Given the description of an element on the screen output the (x, y) to click on. 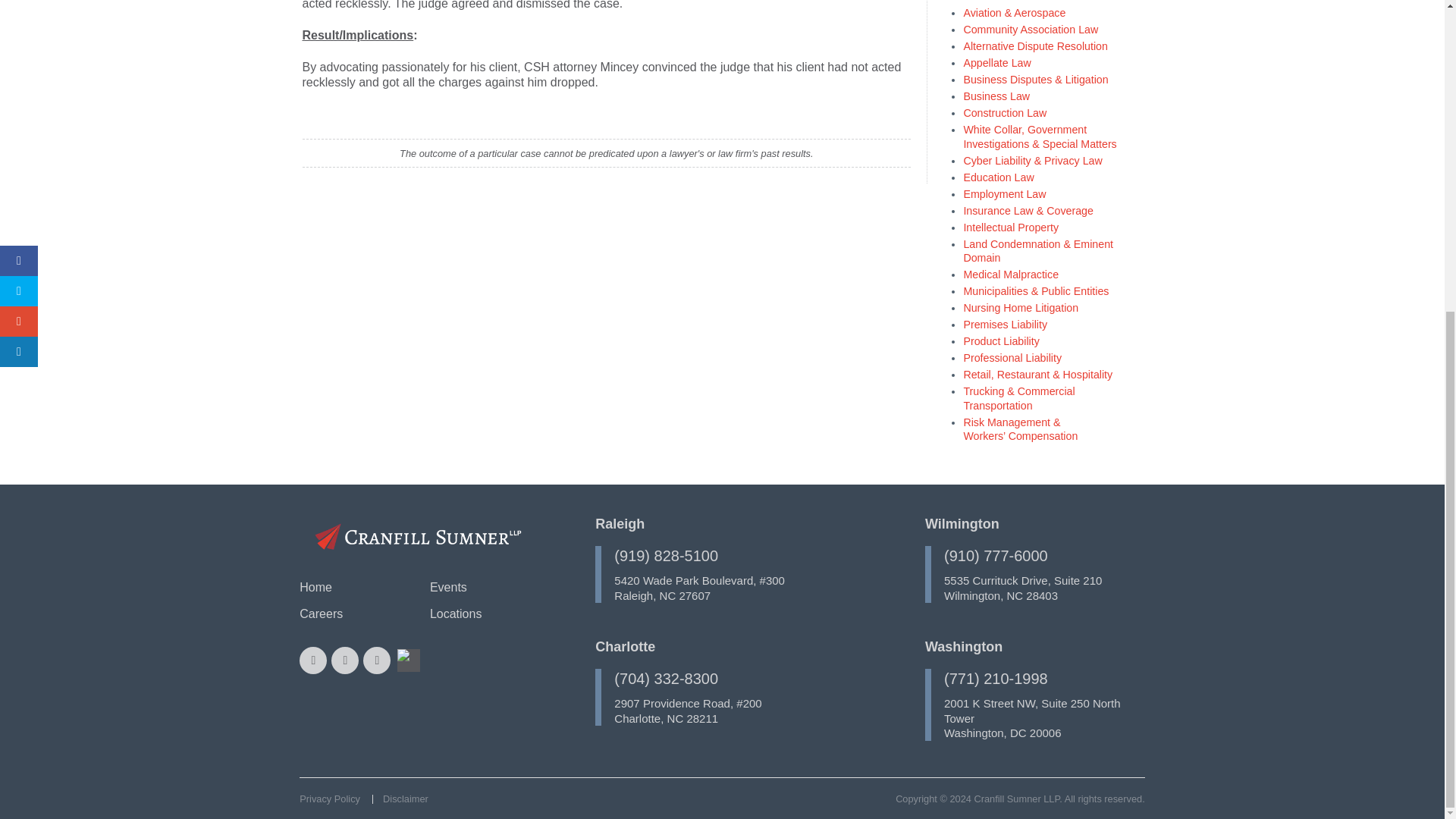
International Business Law (1027, 1)
Alternative Dispute Resolution (1034, 46)
Community Association Law (1029, 29)
